Given the description of an element on the screen output the (x, y) to click on. 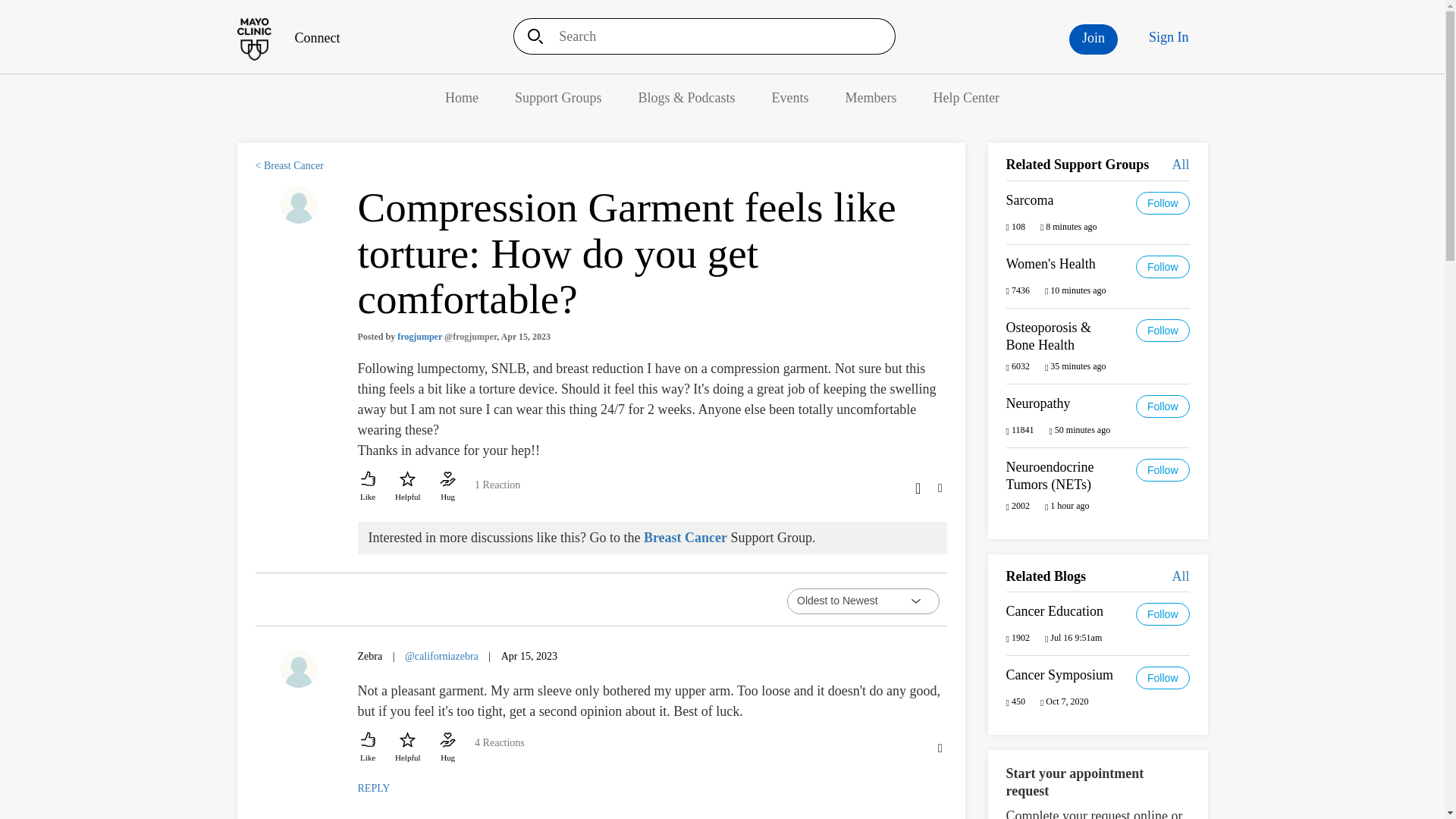
See who reacted to this discussion (496, 490)
1 Reaction (496, 490)
4 Reactions (499, 750)
Actions for this Discussion (938, 486)
Home (462, 97)
Sign In (1169, 37)
Support Groups (558, 97)
Connect (287, 37)
Like this comment to show appreciation for it. (368, 747)
Events (790, 97)
Like (368, 486)
Like (368, 747)
Members (870, 97)
Hug (448, 486)
Support Groups (558, 97)
